Given the description of an element on the screen output the (x, y) to click on. 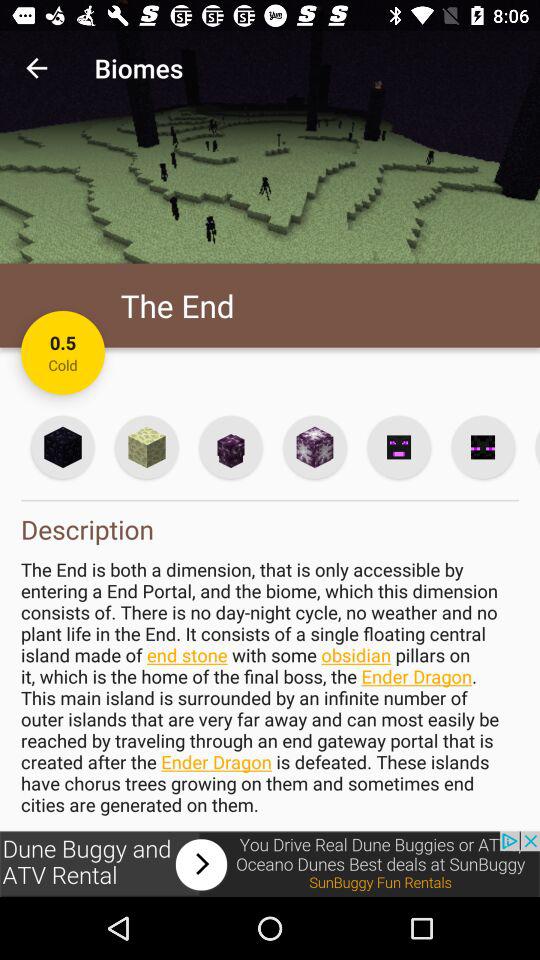
block selection button (314, 446)
